Given the description of an element on the screen output the (x, y) to click on. 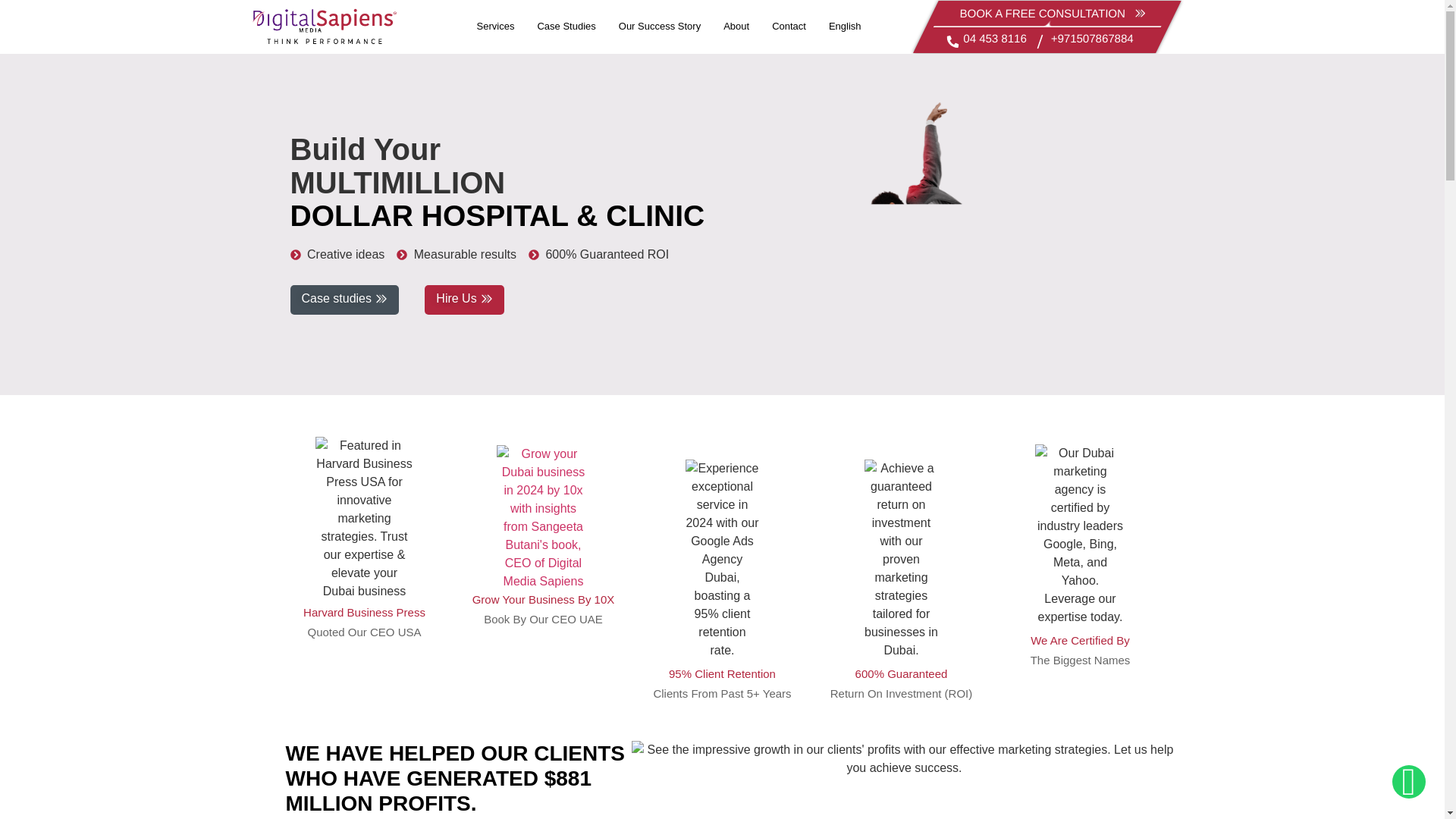
English (844, 26)
Services (495, 26)
Our Success Story (659, 26)
Contact (788, 26)
Case Studies (566, 26)
About (735, 26)
